Given the description of an element on the screen output the (x, y) to click on. 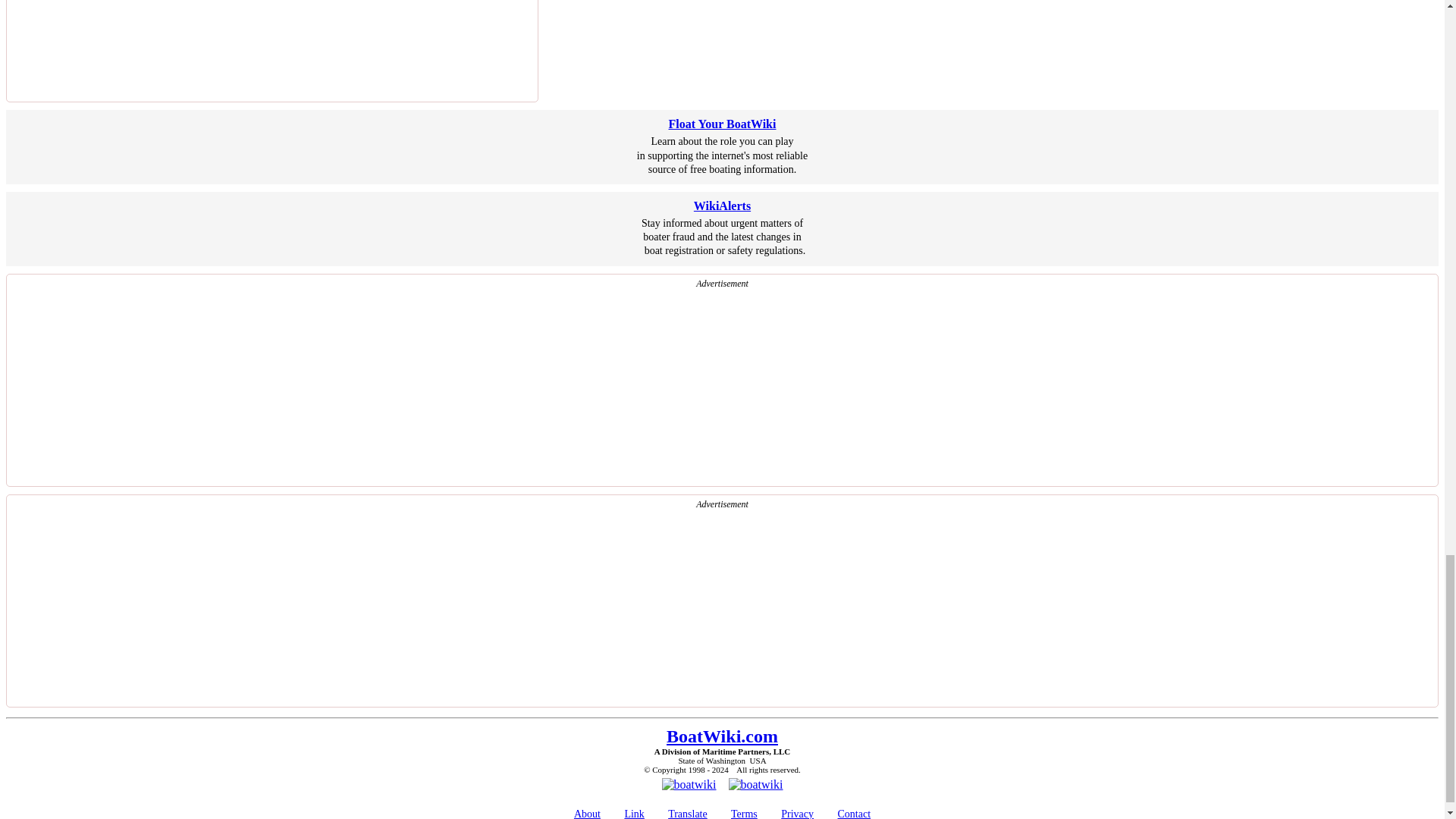
Instagram (755, 784)
BoatWiki.com (721, 736)
Float Your BoatWiki (722, 123)
WikiAlerts (722, 205)
Facebook (688, 784)
